Given the description of an element on the screen output the (x, y) to click on. 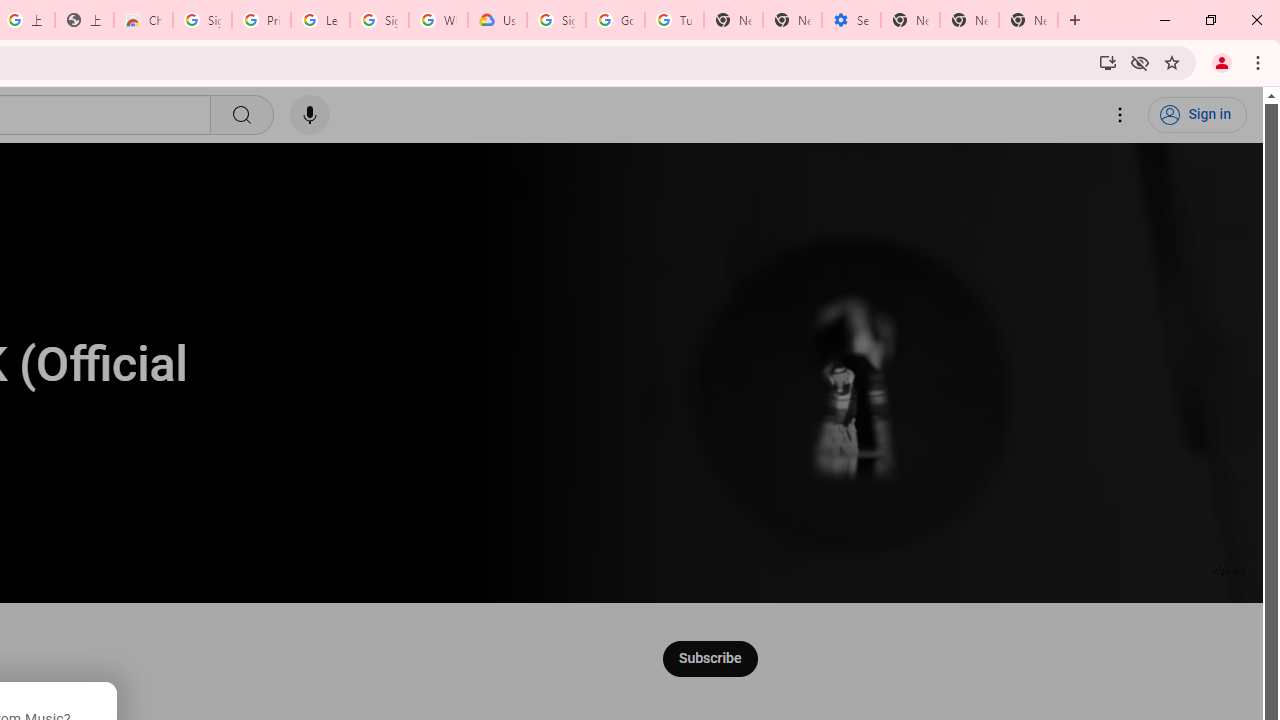
Chrome Web Store (142, 20)
Subscribe to Music. (709, 658)
Sign in - Google Accounts (556, 20)
Sign in - Google Accounts (201, 20)
New Tab (1028, 20)
